Given the description of an element on the screen output the (x, y) to click on. 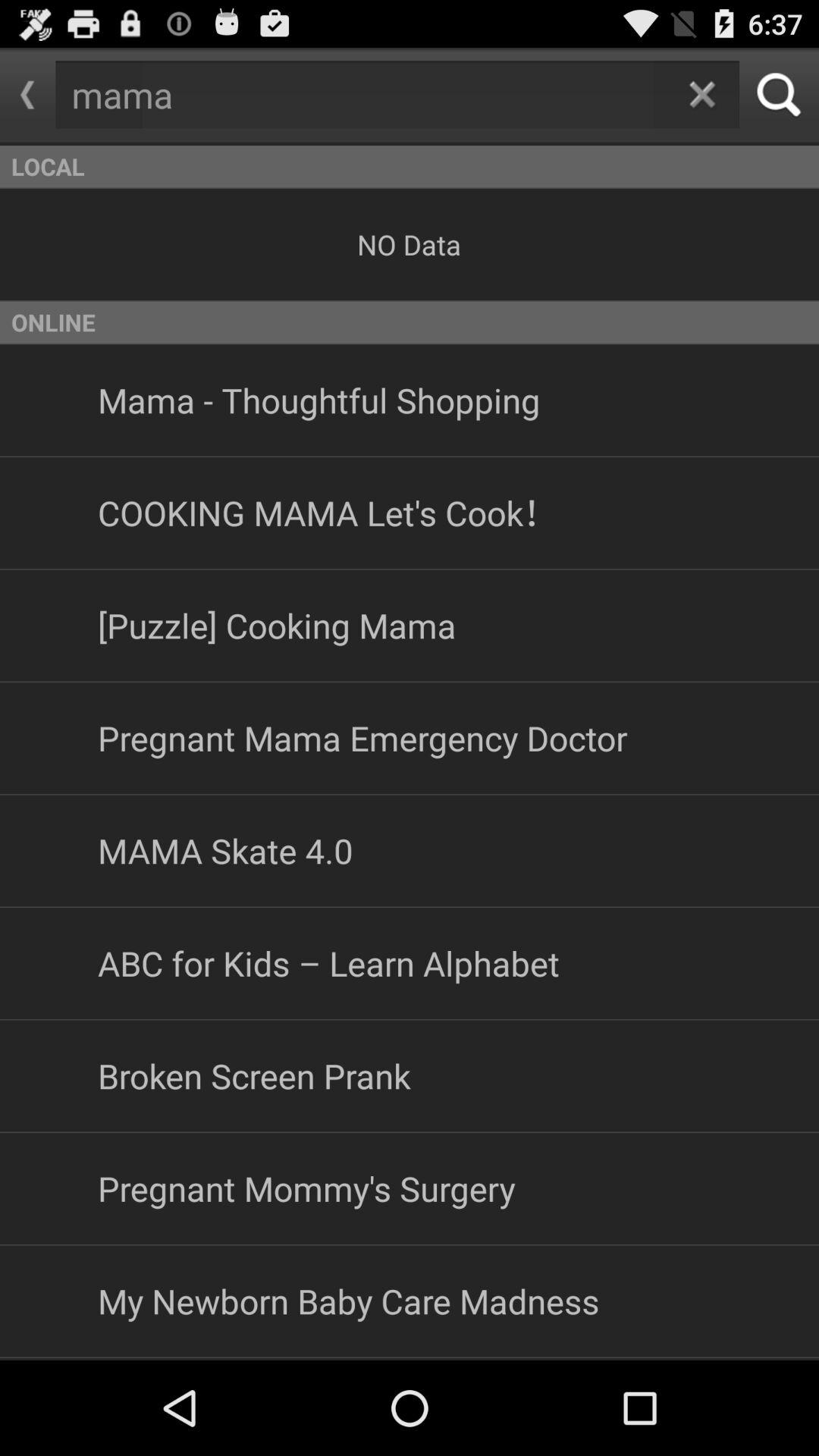
launch the item above the local icon (701, 94)
